Given the description of an element on the screen output the (x, y) to click on. 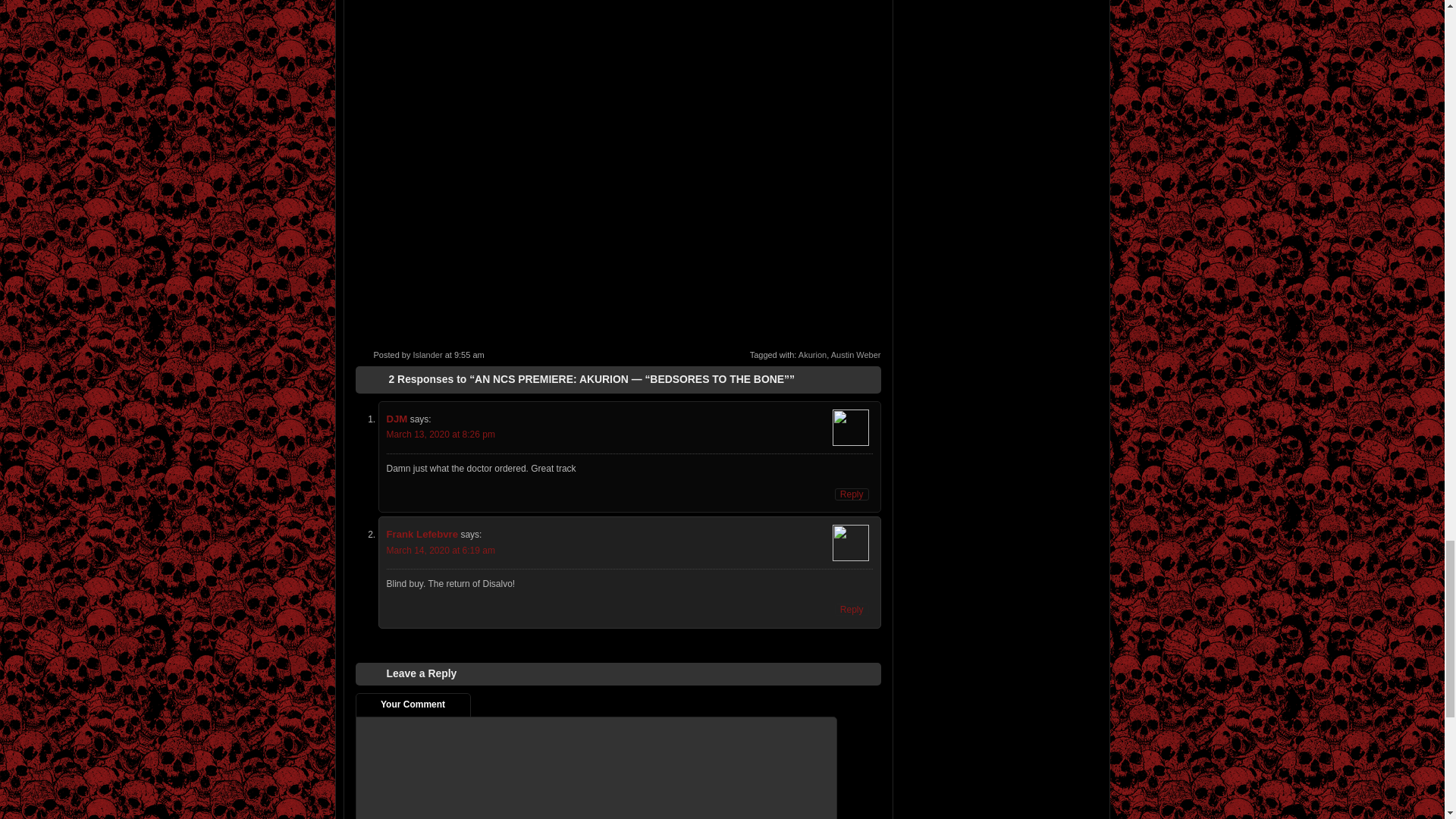
Austin Weber (855, 354)
March 13, 2020 at 8:26 pm (441, 434)
Reply (851, 609)
March 14, 2020 at 6:19 am (441, 550)
Islander (427, 354)
Akurion (812, 354)
Reply (851, 494)
